Given the description of an element on the screen output the (x, y) to click on. 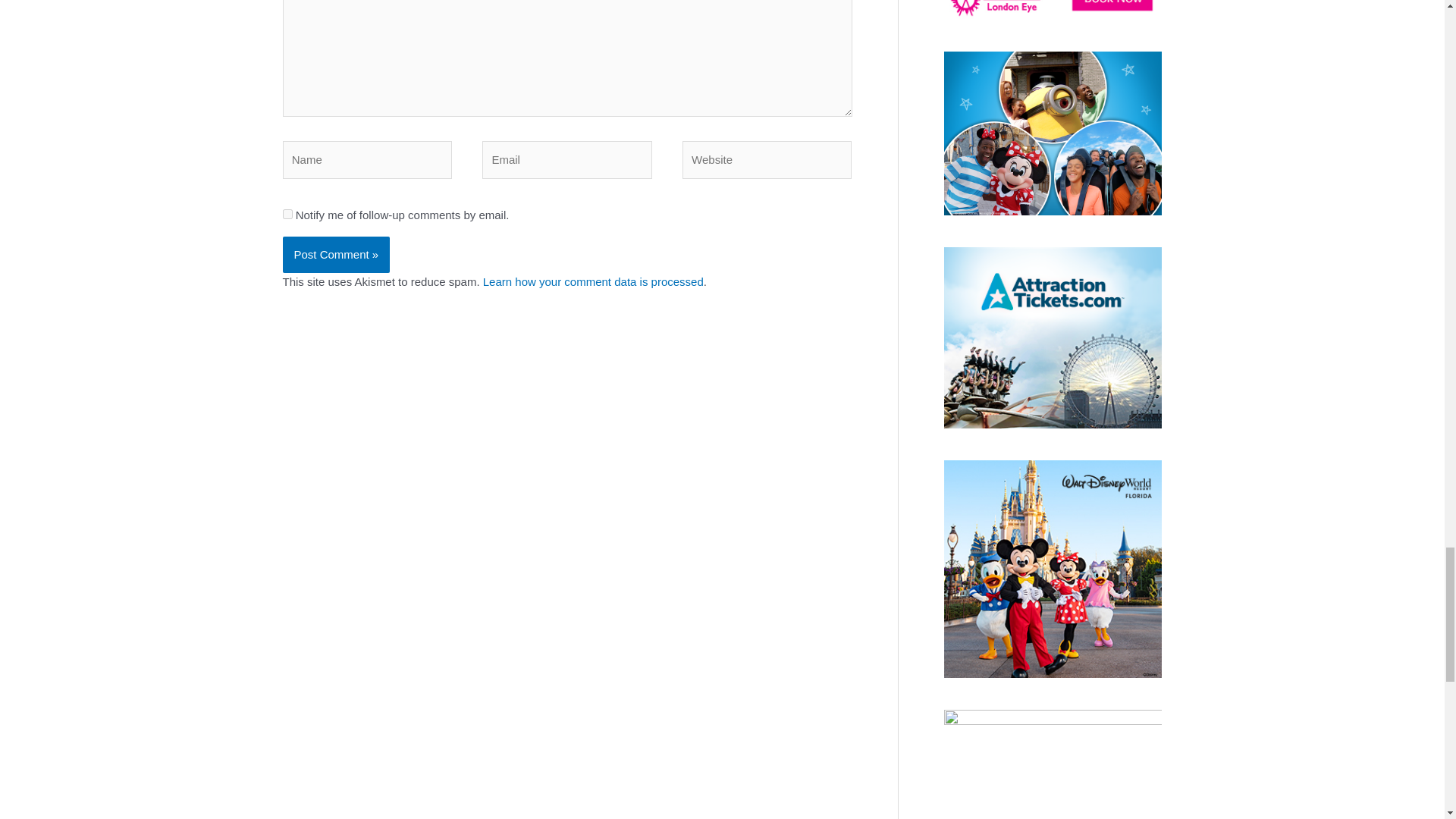
subscribe (287, 214)
